Given the description of an element on the screen output the (x, y) to click on. 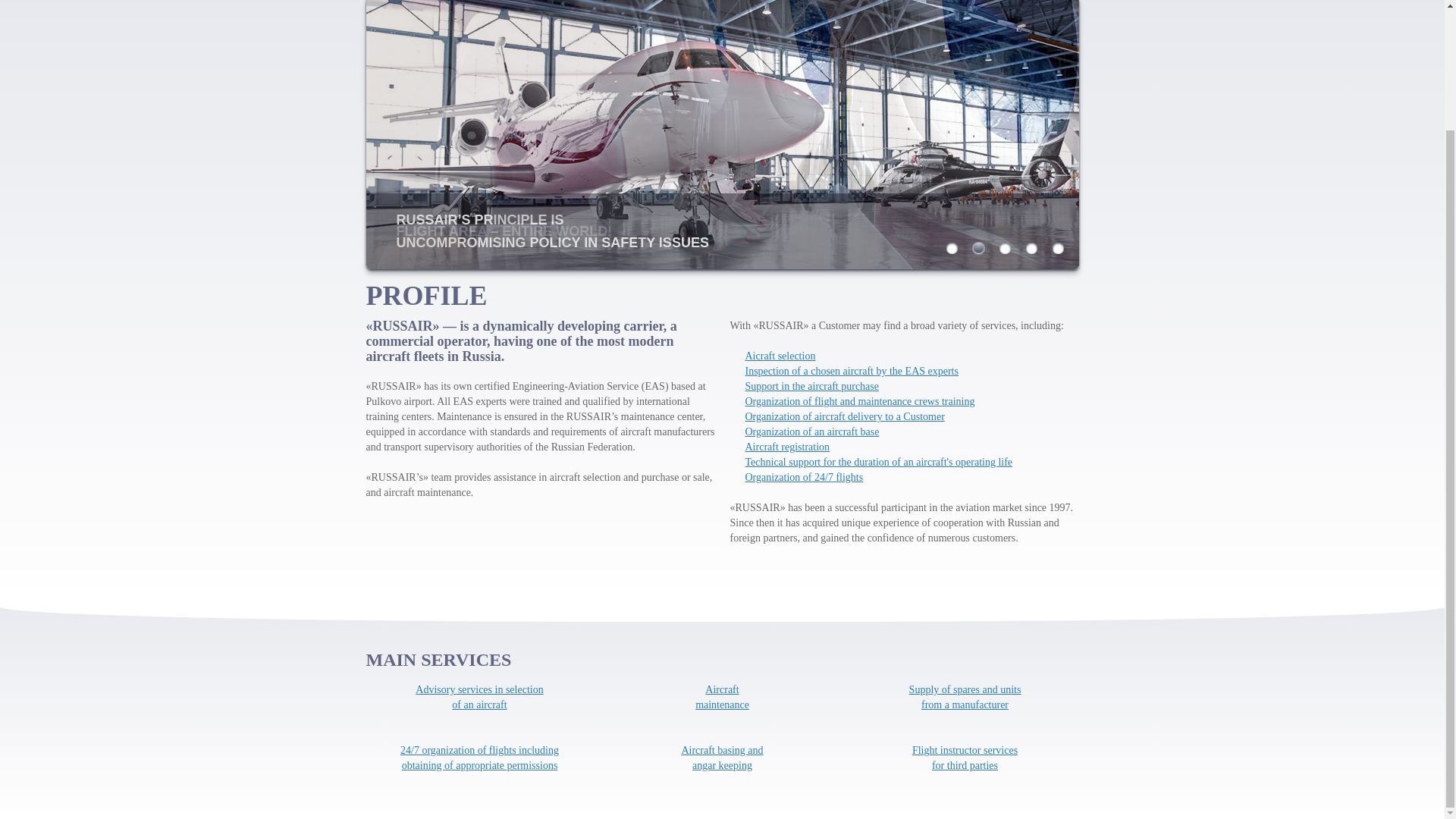
Inspection of a chosen aircraft by the EAS experts (851, 370)
Aicraft selection (779, 355)
Organization of aircraft delivery to a Customer (721, 757)
Organization of flight and maintenance crews training (478, 697)
Support in the aircraft purchase (964, 757)
Organization of an aircraft base (843, 416)
Aircraft registration (859, 401)
